Given the description of an element on the screen output the (x, y) to click on. 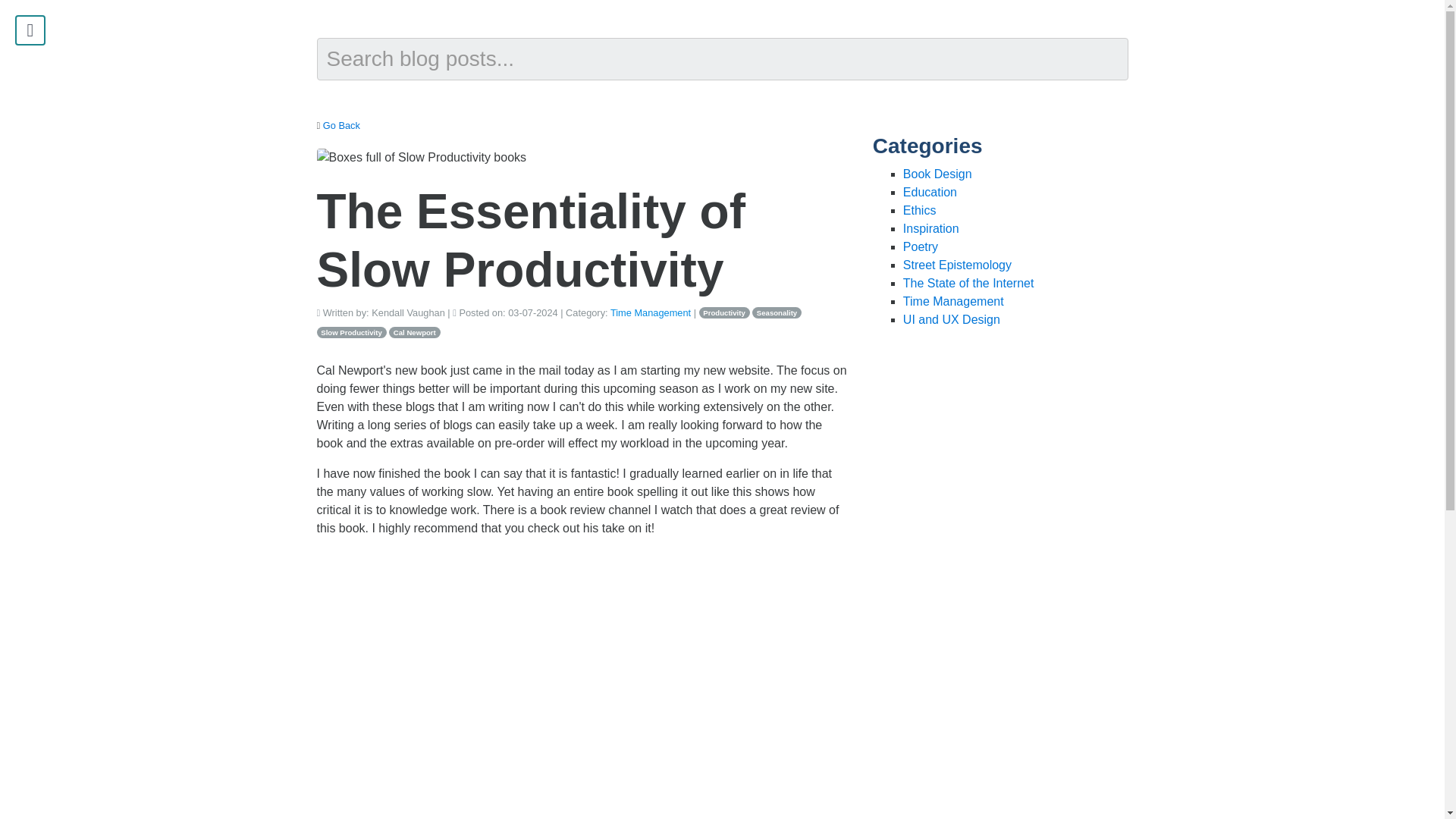
Productivity (723, 312)
Go Back (341, 125)
Time Management (650, 312)
Seasonality (777, 312)
